Given the description of an element on the screen output the (x, y) to click on. 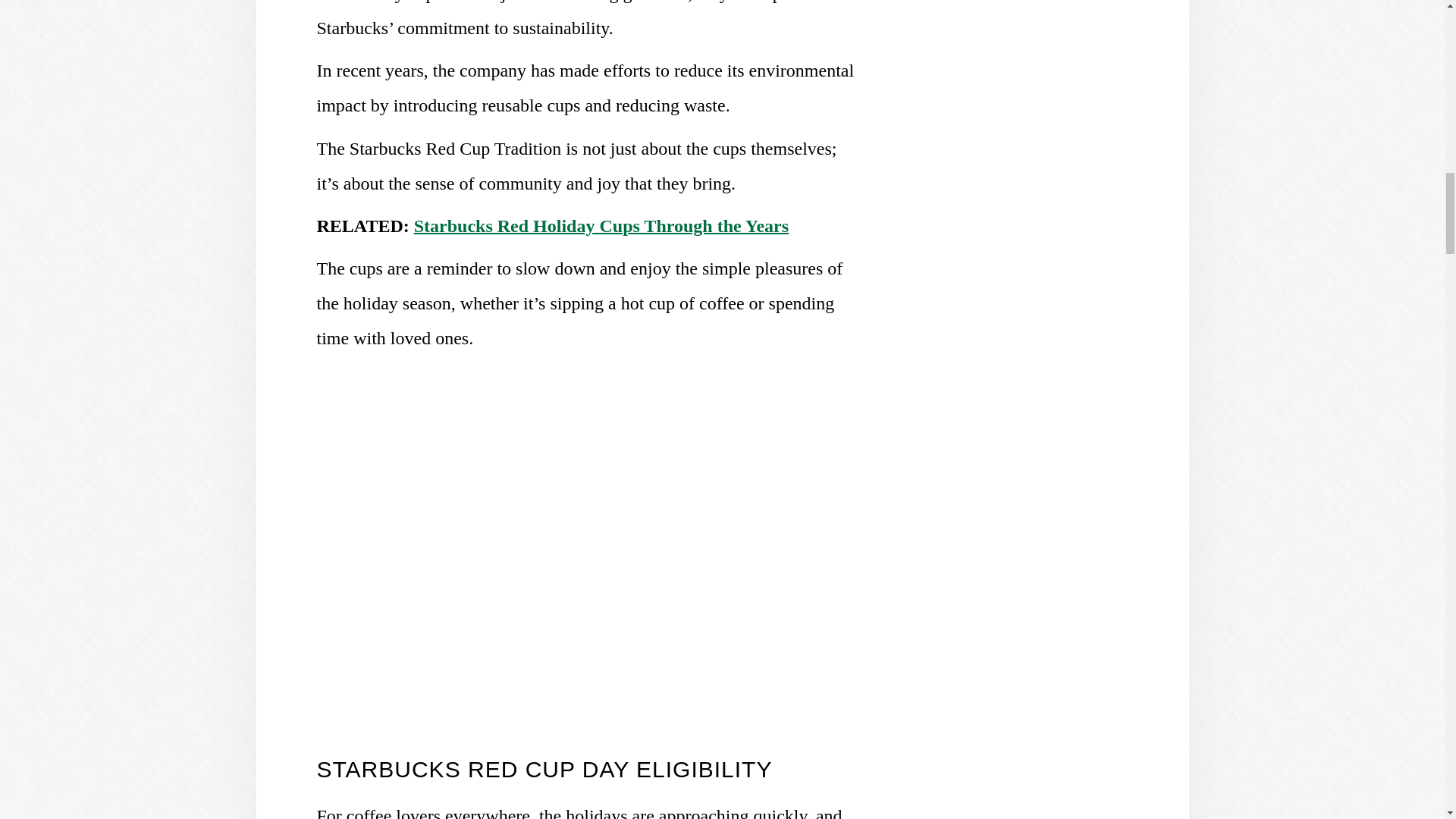
Starbucks Red Holiday Cups Through the Years (601, 225)
